Given the description of an element on the screen output the (x, y) to click on. 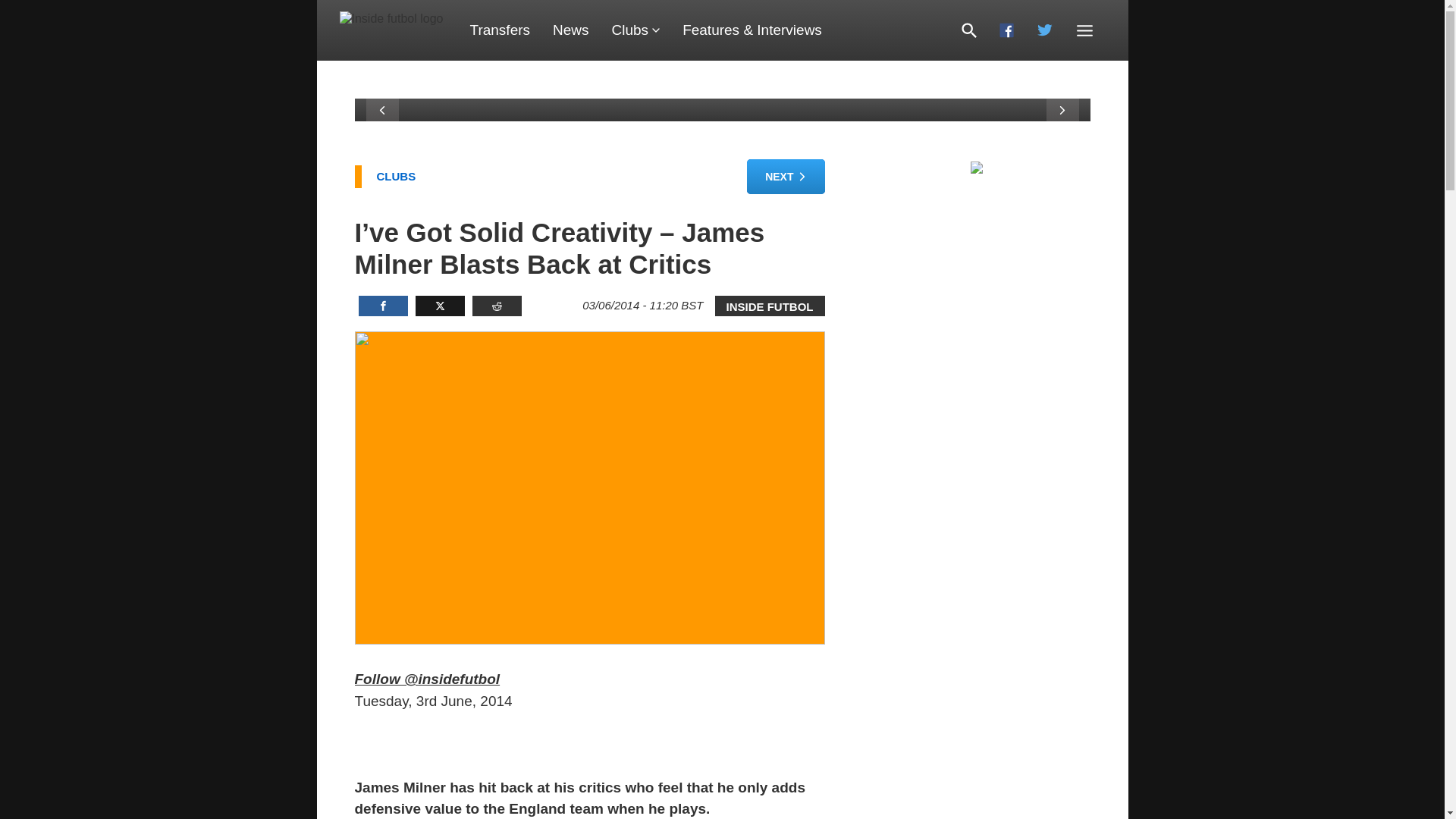
Transfers (499, 30)
News (570, 30)
Clubs (635, 30)
